Given the description of an element on the screen output the (x, y) to click on. 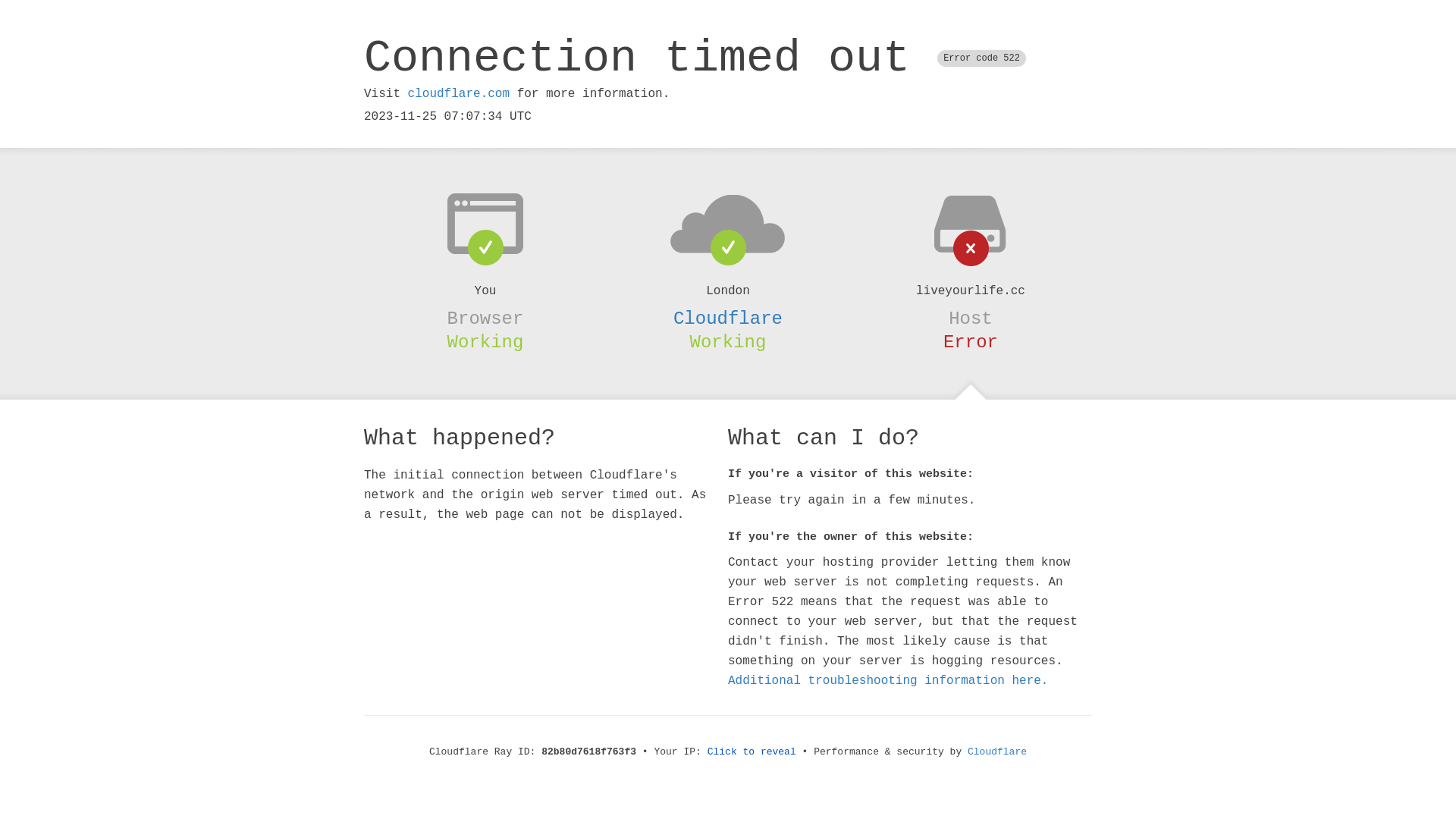
Cloudflare Element type: text (996, 751)
Cloudflare Element type: text (727, 318)
Additional troubleshooting information here. Element type: text (888, 680)
cloudflare.com Element type: text (458, 93)
Click to reveal Element type: text (751, 751)
